Given the description of an element on the screen output the (x, y) to click on. 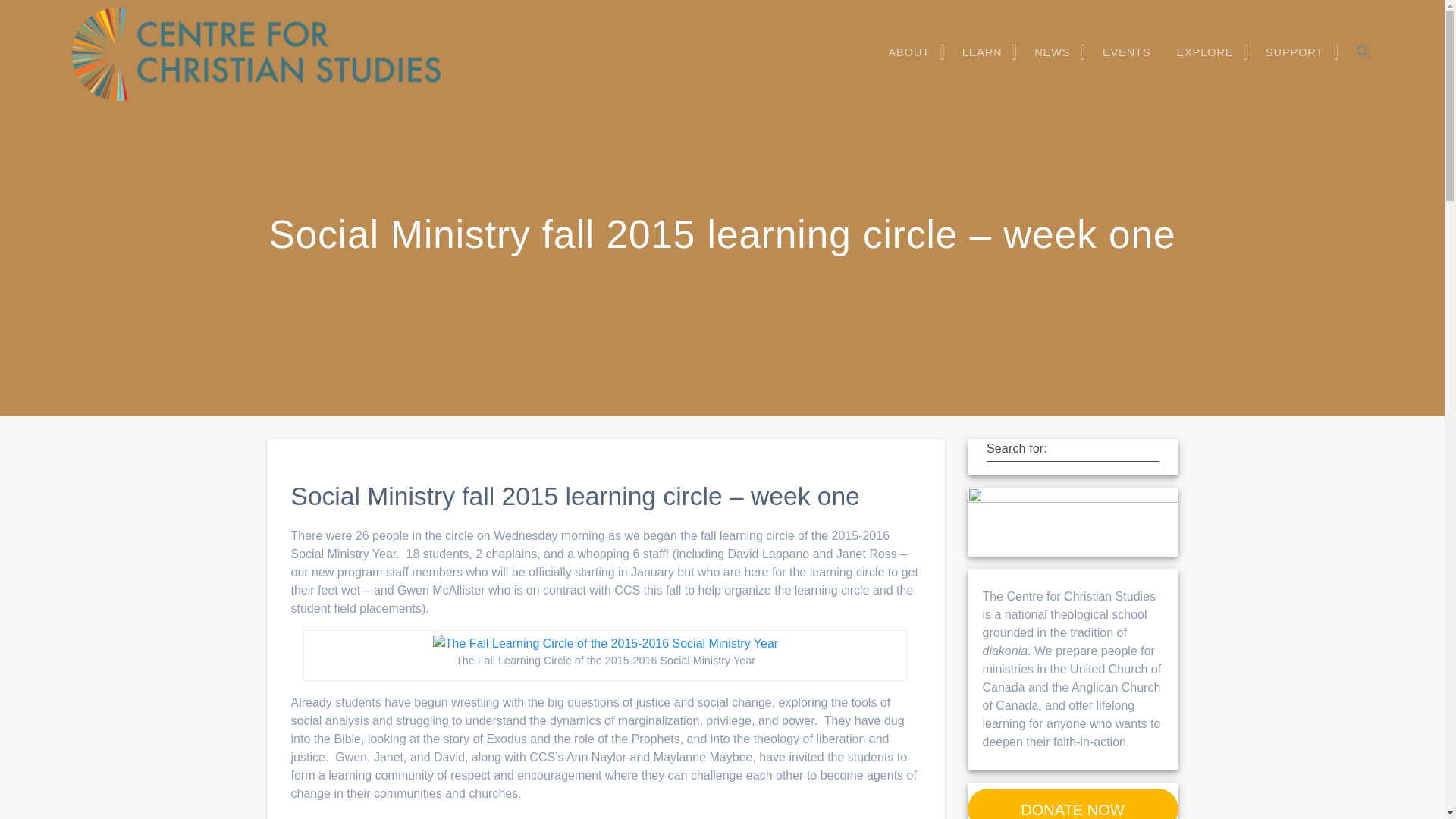
EXPLORE (1207, 52)
SUPPORT (1297, 52)
EVENTS (1126, 52)
LEARN (985, 52)
ABOUT (912, 52)
NEWS (1055, 52)
